Given the description of an element on the screen output the (x, y) to click on. 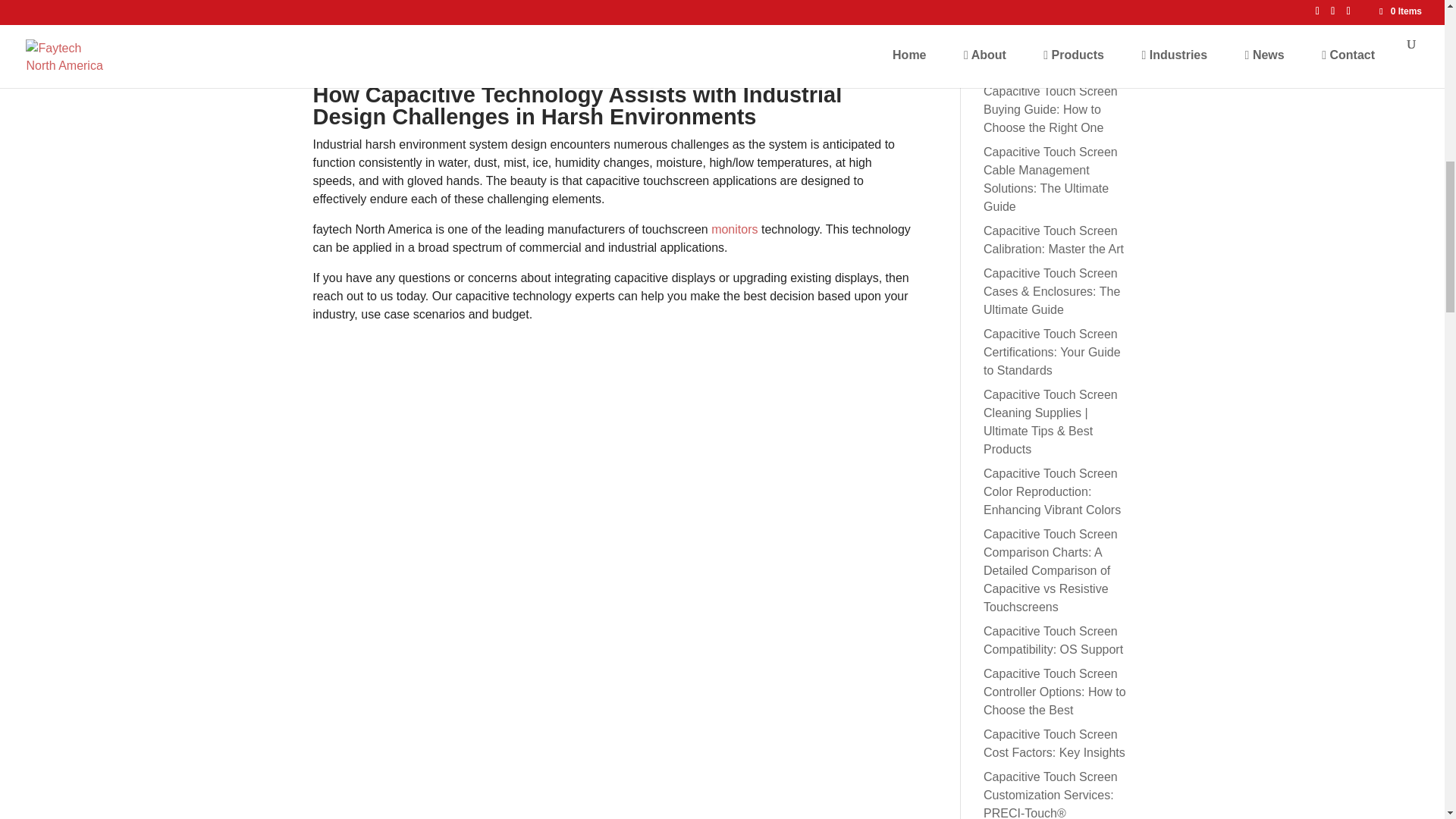
monitors (734, 228)
